Given the description of an element on the screen output the (x, y) to click on. 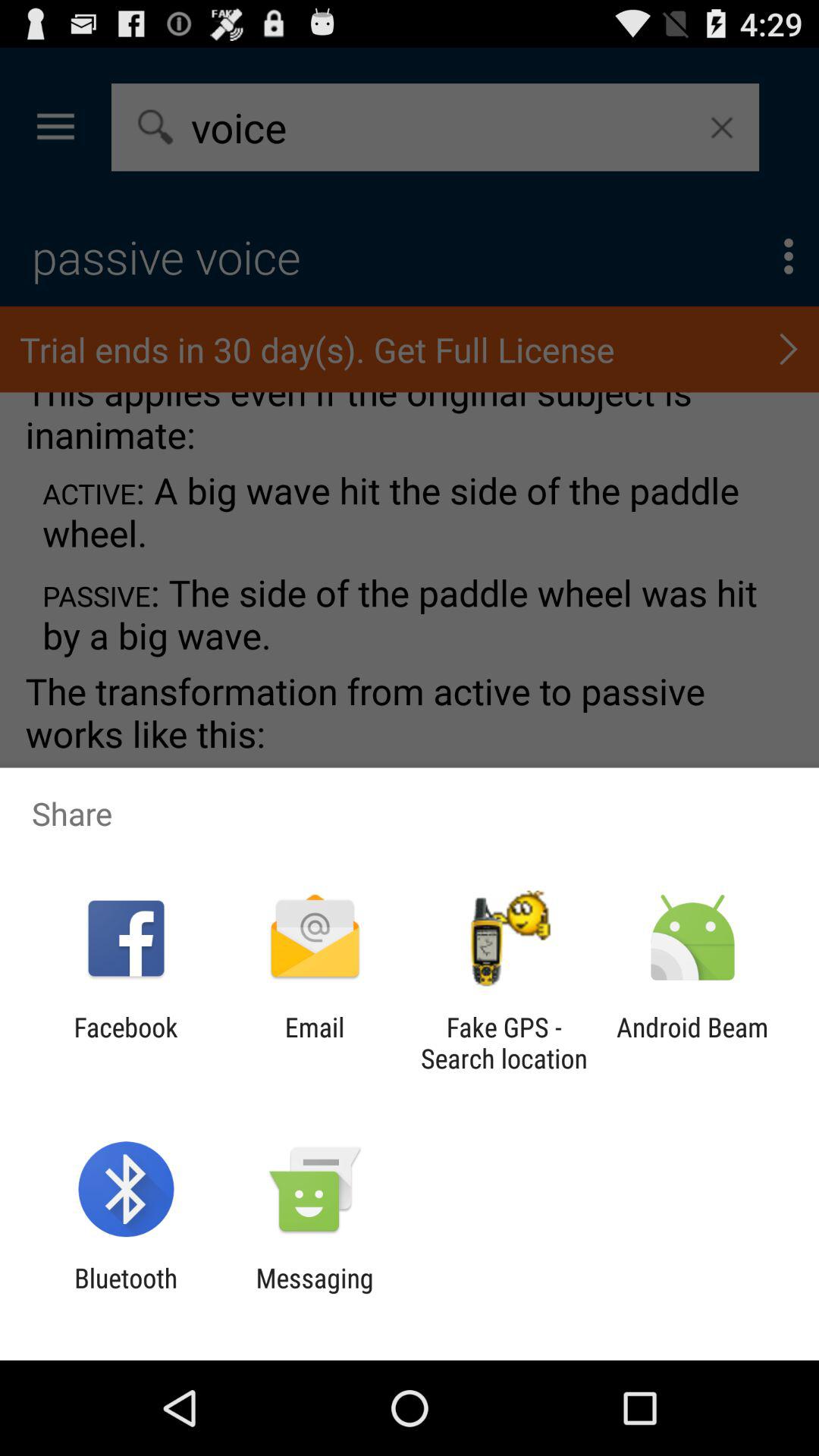
turn on app to the right of bluetooth app (314, 1293)
